Given the description of an element on the screen output the (x, y) to click on. 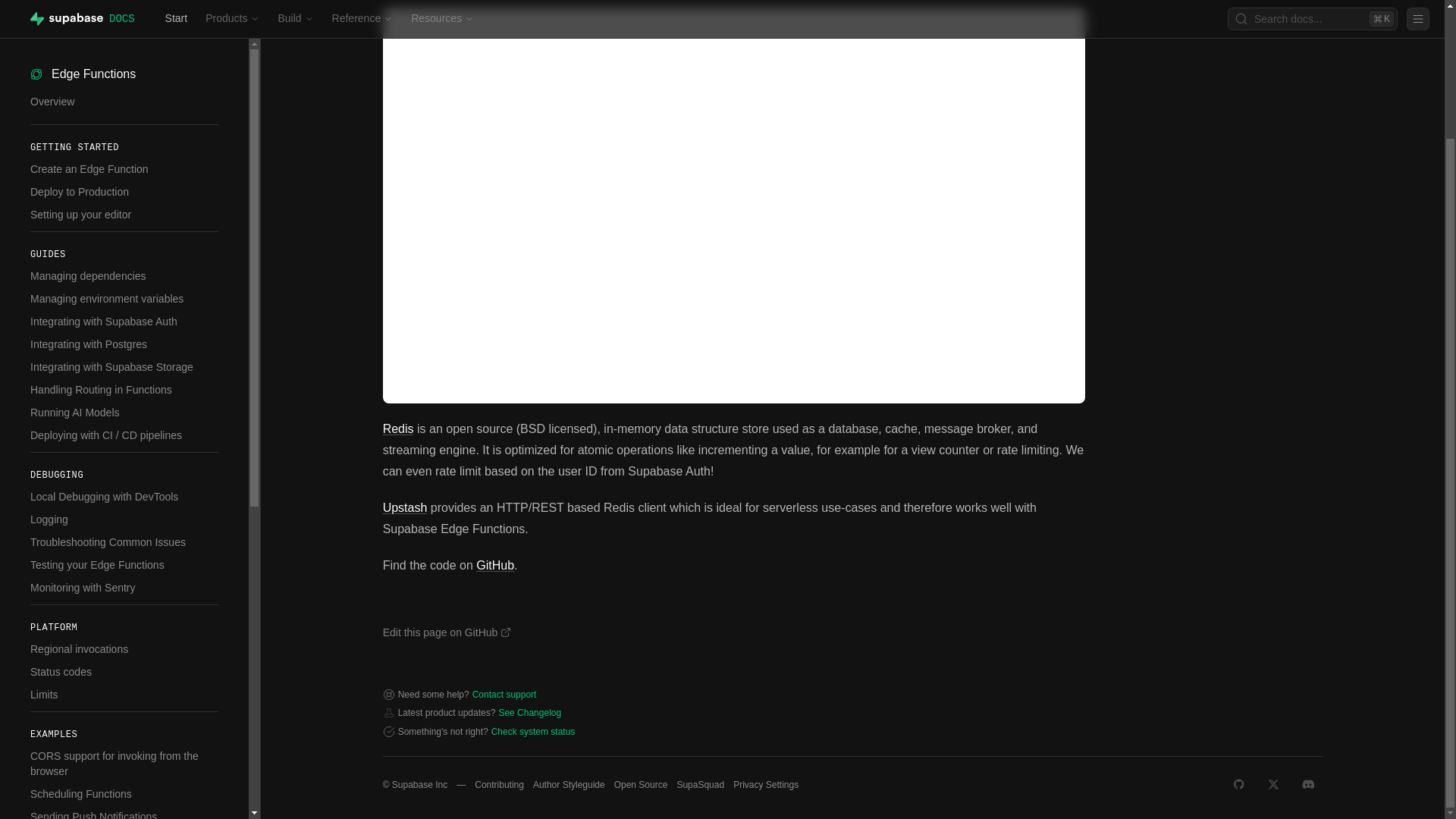
Troubleshooting Common Issues (124, 387)
Limits (124, 539)
CAPTCHA support with Cloudflare Turnstile (124, 760)
Generating AI images (124, 684)
Status codes (124, 516)
Scheduling Functions (124, 639)
Building a Discord Bot (124, 790)
Generating OG images (124, 707)
Create an Edge Function (124, 14)
Semantic AI Search (124, 729)
Monitoring with Sentry (124, 432)
Integrating with Supabase Storage (124, 212)
Setting up your editor (124, 59)
Regional invocations (124, 494)
Testing your Edge Functions (124, 409)
